Given the description of an element on the screen output the (x, y) to click on. 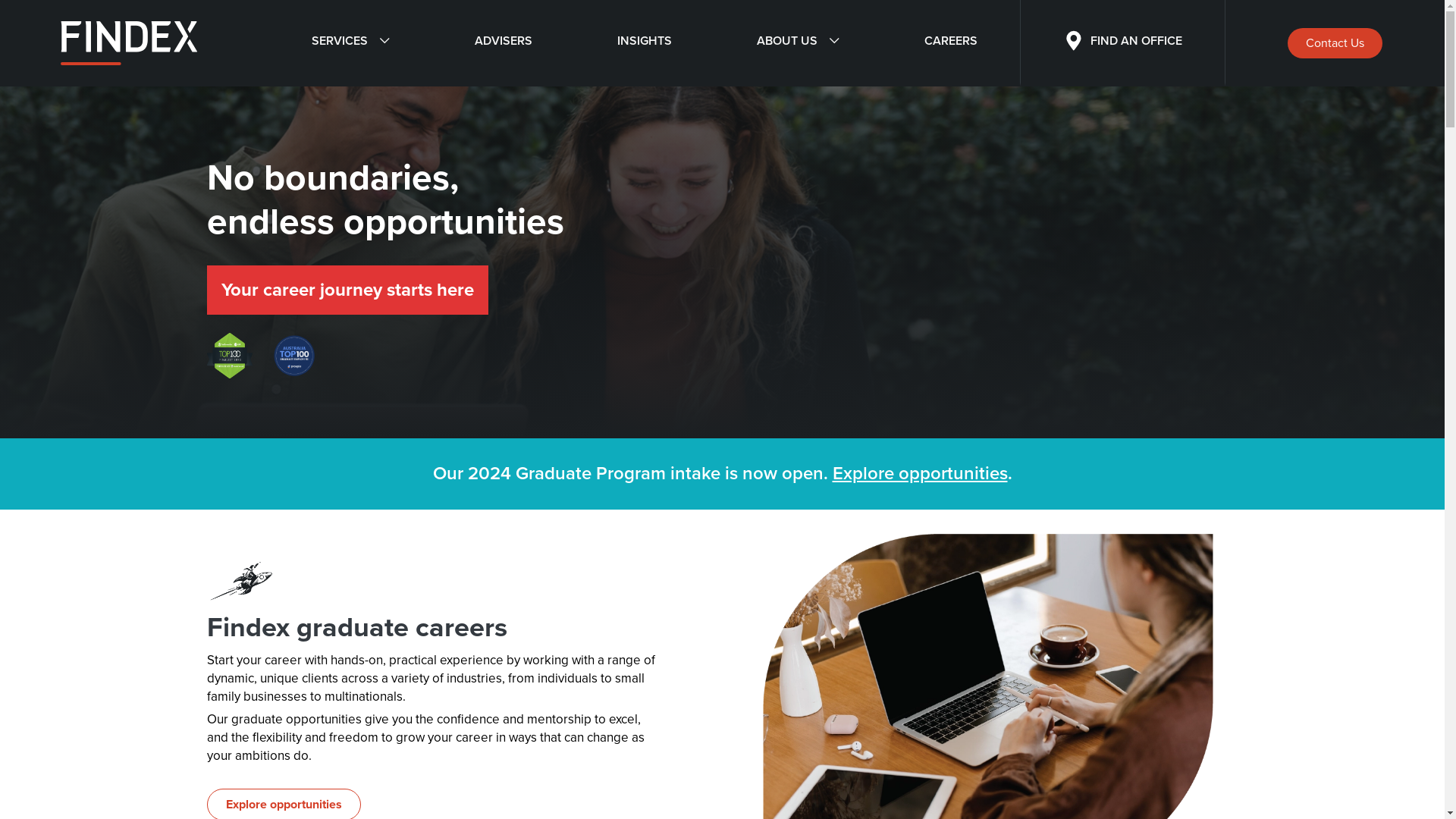
ADVISERS Element type: text (503, 43)
Explore opportunities Element type: text (919, 473)
CAREERS Element type: text (950, 43)
ABOUT US Element type: text (797, 43)
FIND AN OFFICE Element type: text (1122, 43)
Contact Us Element type: text (1334, 43)
INSIGHTS Element type: text (644, 43)
SERVICES Element type: text (350, 43)
Your career journey starts here Element type: text (346, 289)
